Given the description of an element on the screen output the (x, y) to click on. 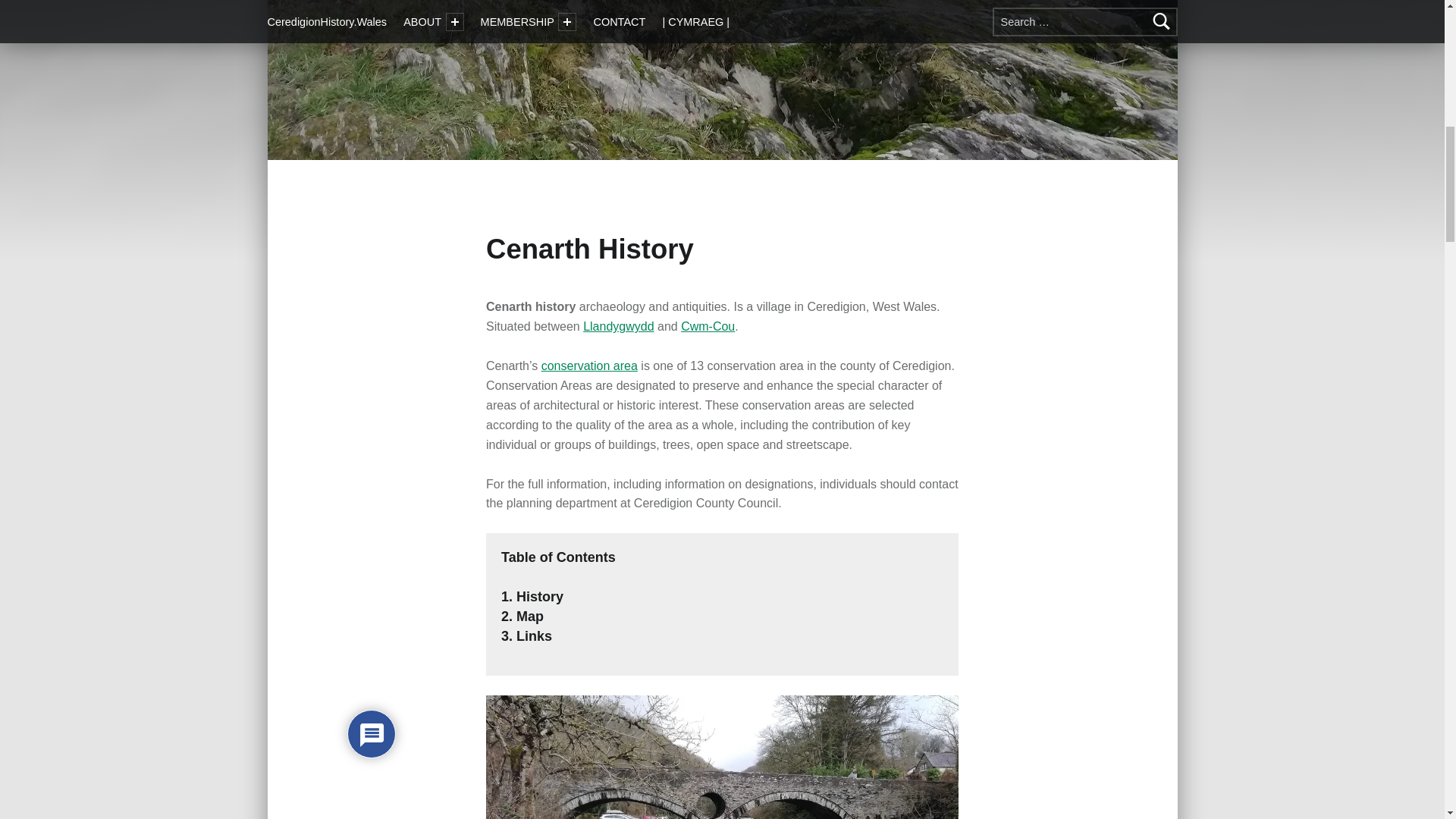
 History (537, 596)
conservation area (589, 365)
Llandygwydd (618, 326)
Cwm-Cou (708, 326)
